Given the description of an element on the screen output the (x, y) to click on. 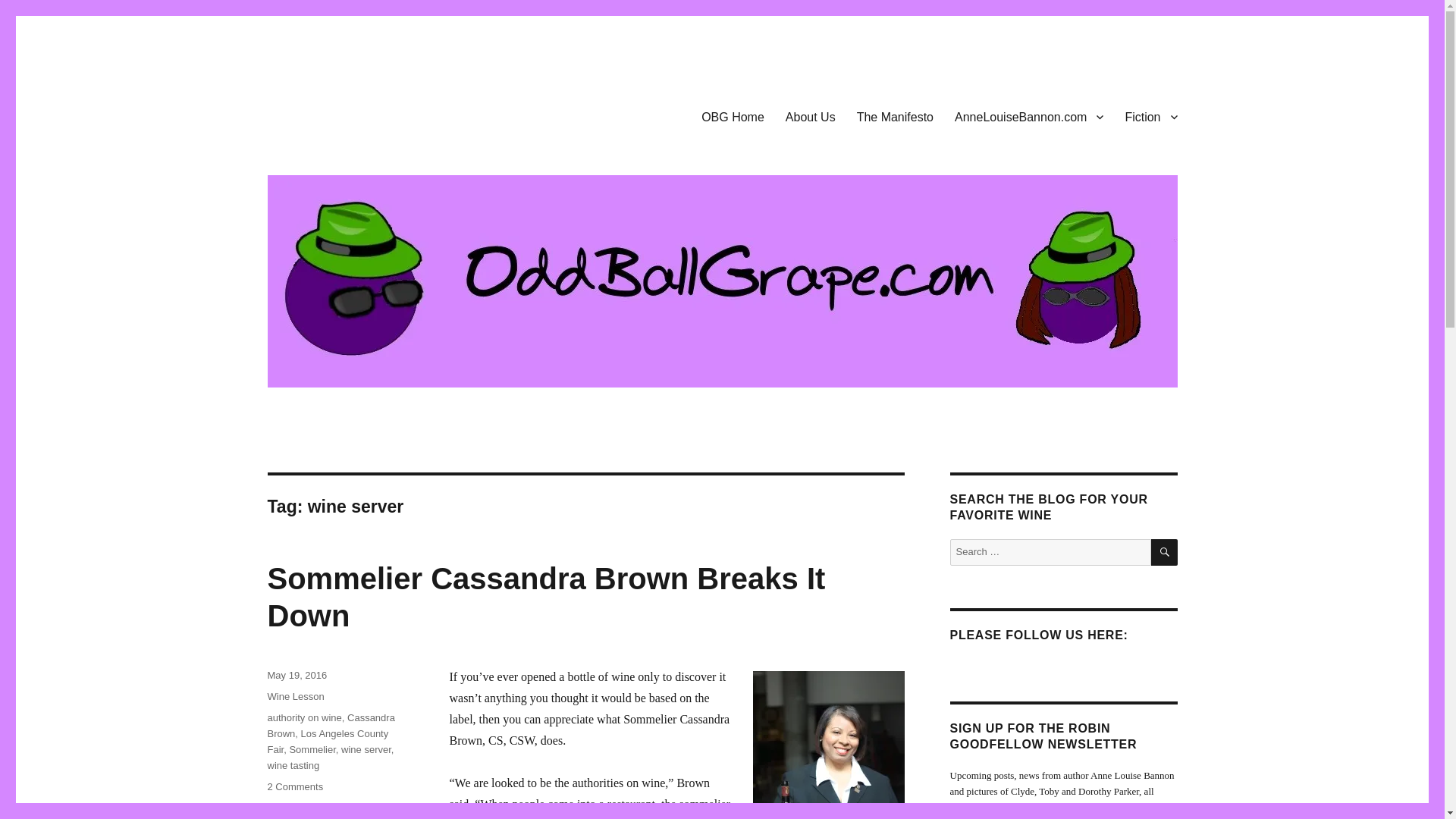
authority on wine (303, 717)
About Us (809, 116)
AnneLouiseBannon.com (1028, 116)
OBG Home (732, 116)
OddBallGrape.com (363, 114)
Los Angeles County Fair (327, 741)
Cassandra Brown (330, 725)
Sommelier Cassandra Brown Breaks It Down (545, 596)
The Manifesto (894, 116)
Wine Lesson (294, 696)
